Given the description of an element on the screen output the (x, y) to click on. 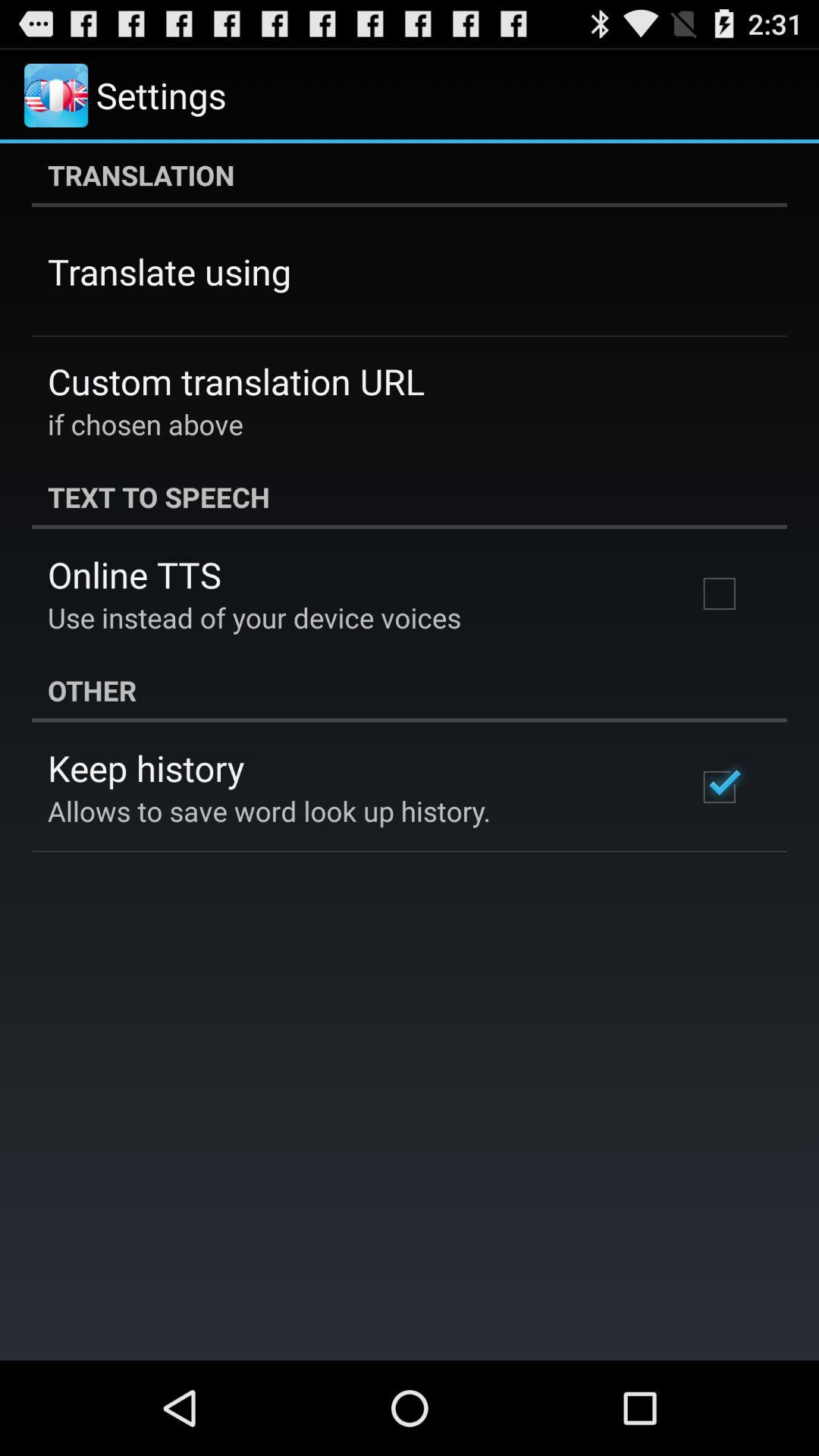
select keep history app (145, 767)
